Given the description of an element on the screen output the (x, y) to click on. 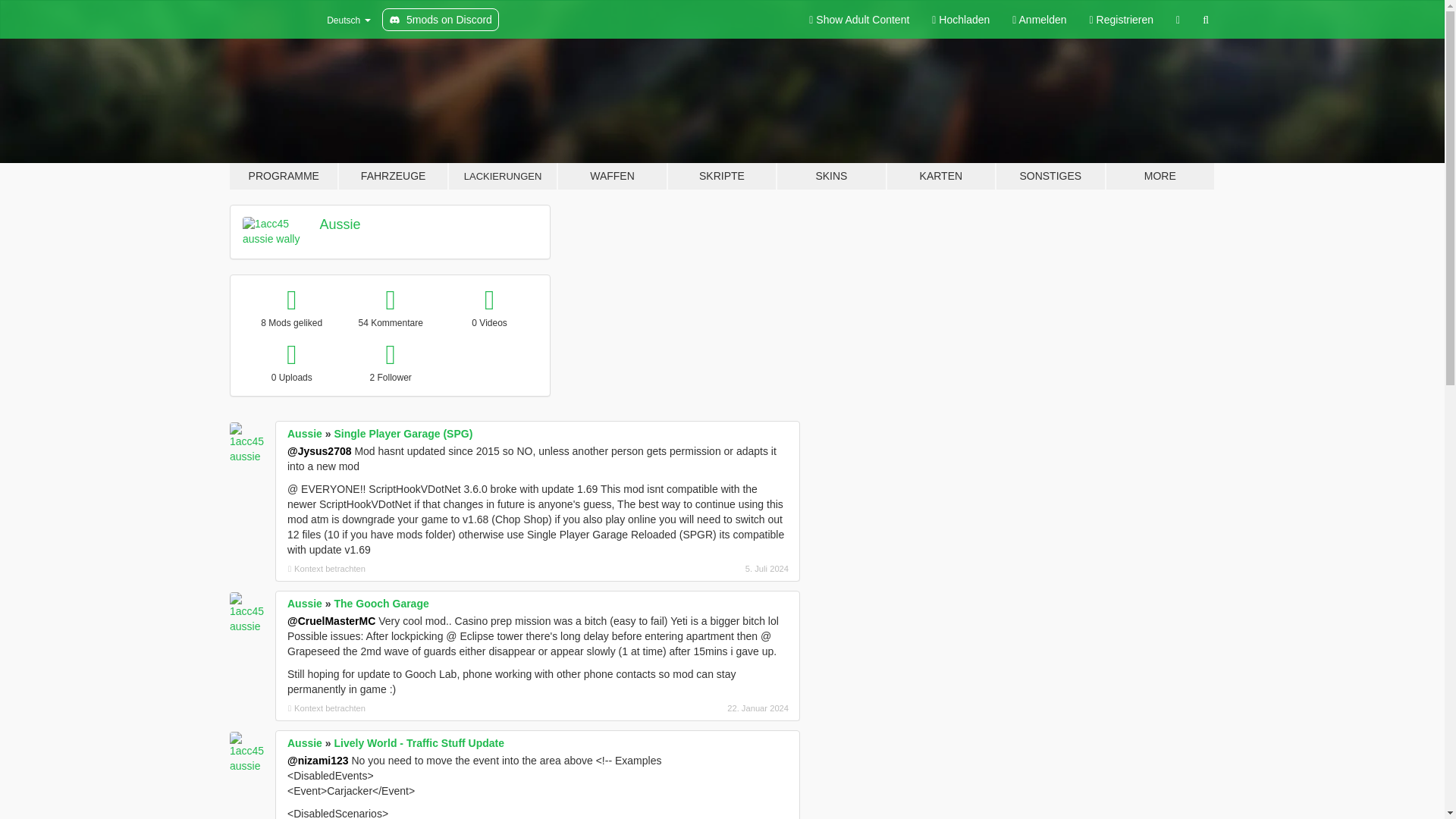
Anmelden (1039, 19)
Light mode (858, 19)
Hochladen (960, 19)
Registrieren (1122, 19)
  Deutsch (338, 19)
5mods on Discord (440, 19)
Freitag, 05. Juli 2024, 07:52 Uhr (708, 568)
Montag, 22. Januar 2024, 05:53 Uhr (708, 707)
Show Adult Content (858, 19)
